Given the description of an element on the screen output the (x, y) to click on. 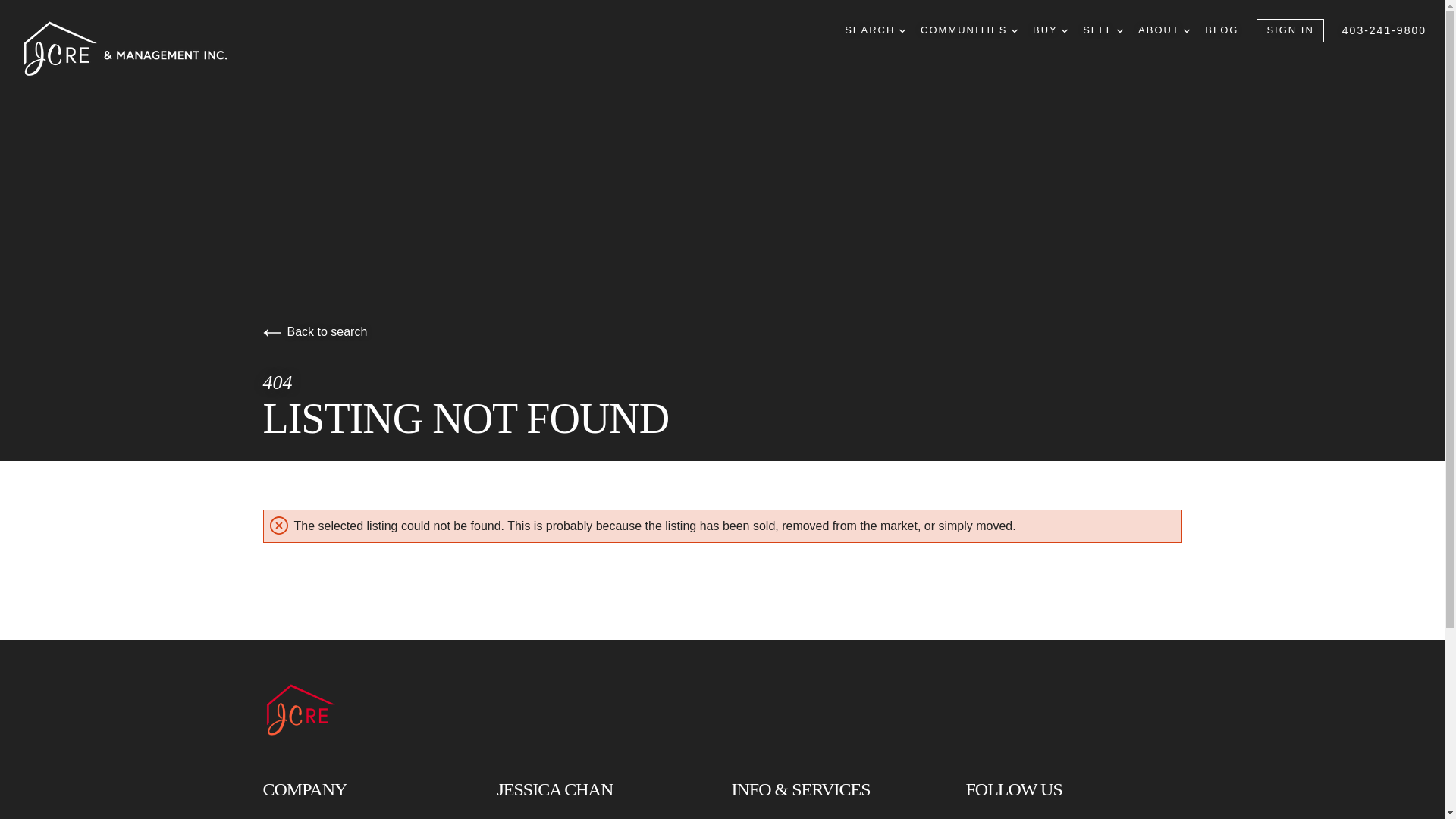
SEARCH DROPDOWN ARROW (874, 30)
DROPDOWN ARROW (902, 30)
DROPDOWN ARROW (1186, 30)
DROPDOWN ARROW (1119, 30)
COMMUNITIES DROPDOWN ARROW (968, 30)
SELL DROPDOWN ARROW (1102, 30)
DROPDOWN ARROW (1064, 30)
ABOUT DROPDOWN ARROW (1163, 30)
DROPDOWN ARROW (1014, 30)
BUY DROPDOWN ARROW (1049, 30)
